Given the description of an element on the screen output the (x, y) to click on. 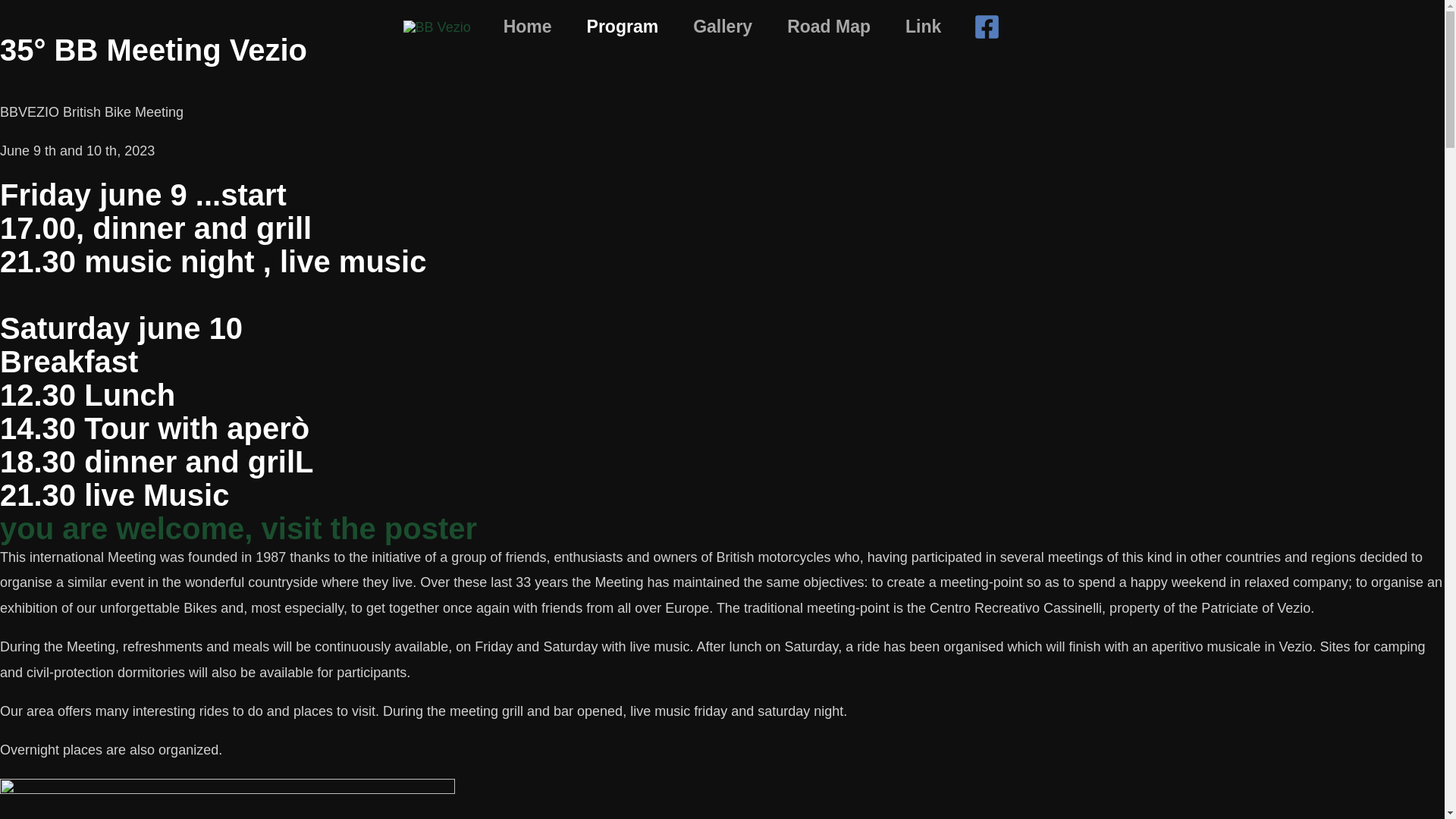
Program Element type: text (622, 26)
Gallery Element type: text (722, 26)
Link Element type: text (923, 26)
Home Element type: text (527, 26)
you are welcome, visit the poster Element type: text (238, 528)
Road Map Element type: text (828, 26)
